Given the description of an element on the screen output the (x, y) to click on. 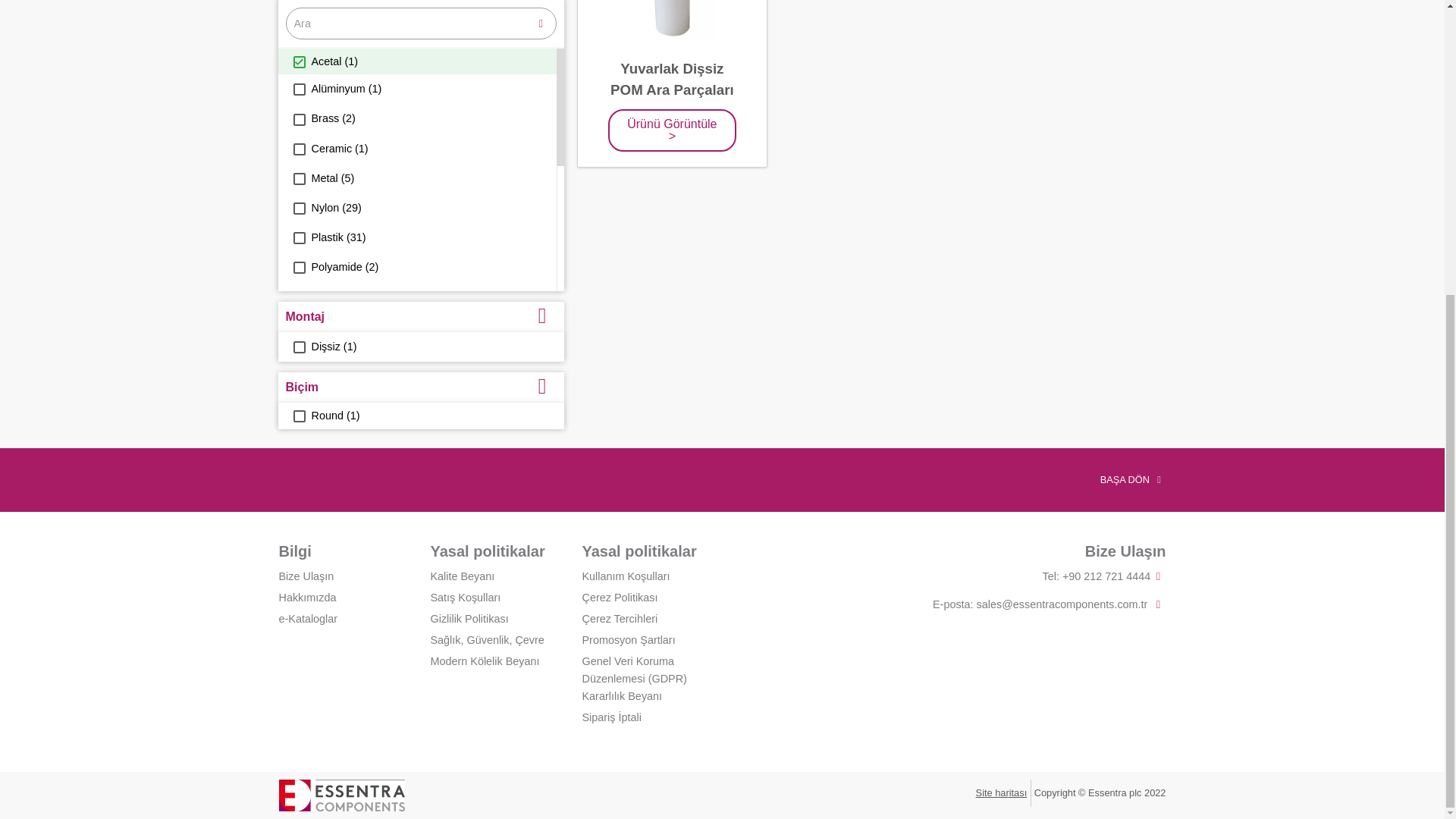
Polystyrene (298, 326)
PVC (298, 386)
Polyvinyl Chloride (298, 356)
Ceramic (298, 149)
Rubber (298, 415)
Polyoxymethylene (298, 297)
Polyamide (298, 267)
Metal (298, 178)
TPR (298, 503)
Brass (298, 119)
Vinyl (298, 533)
Stainless Steel (298, 444)
Steel (298, 474)
Nylon (298, 208)
Plastik (298, 237)
